Given the description of an element on the screen output the (x, y) to click on. 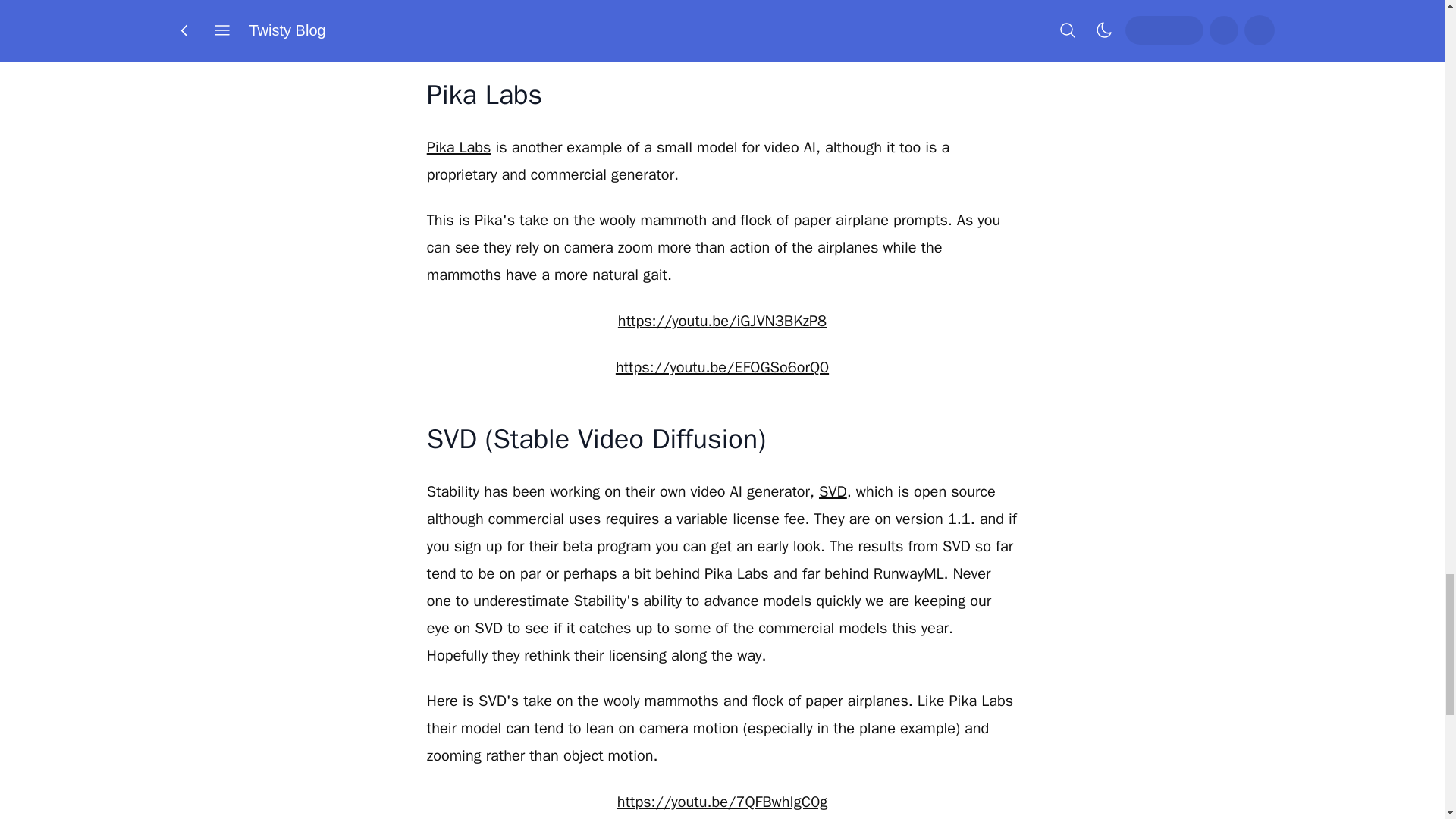
Pika Labs (459, 147)
SVD (832, 491)
